Given the description of an element on the screen output the (x, y) to click on. 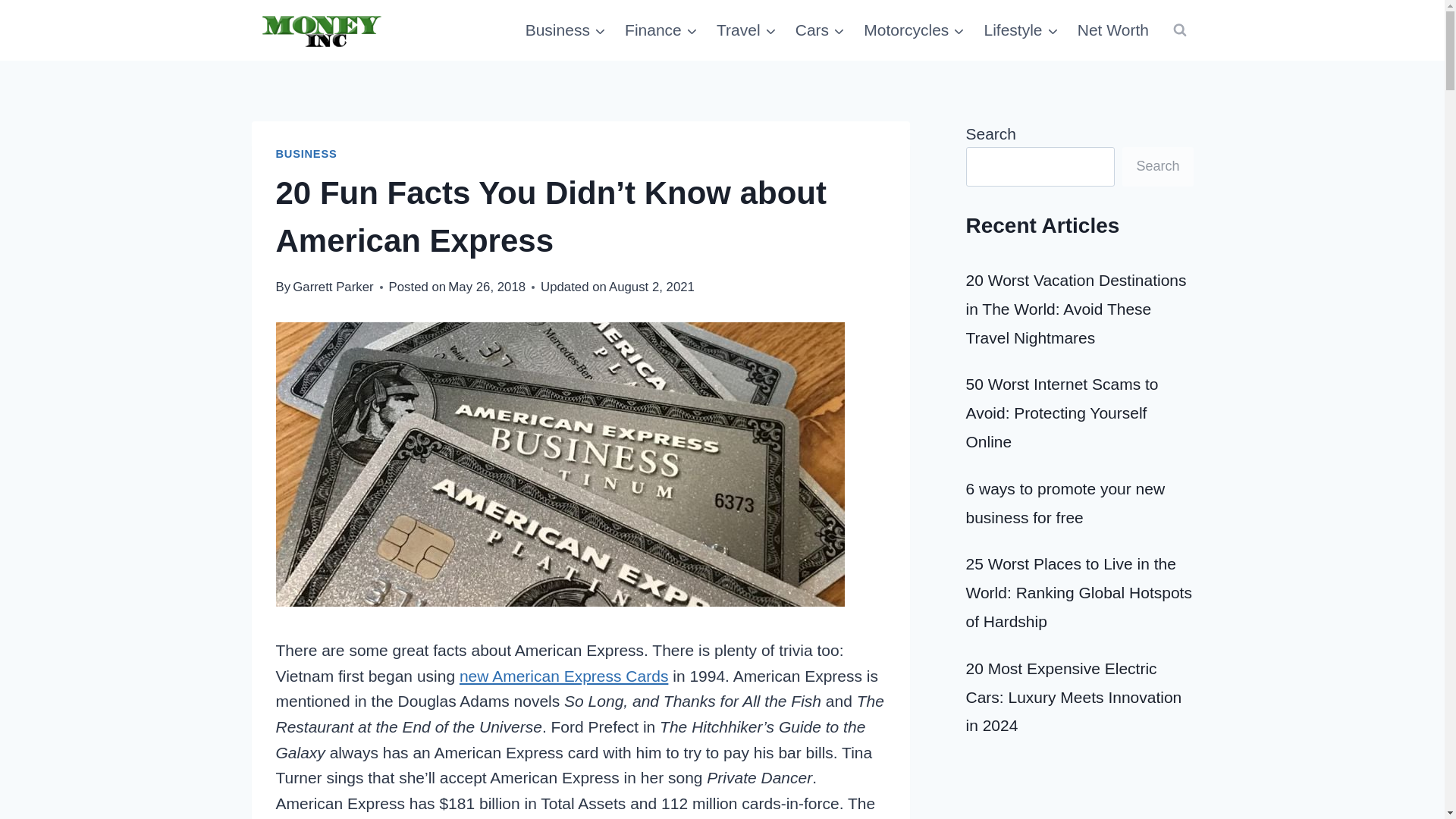
Finance (661, 30)
Business (564, 30)
Cars (820, 30)
Travel (746, 30)
